Given the description of an element on the screen output the (x, y) to click on. 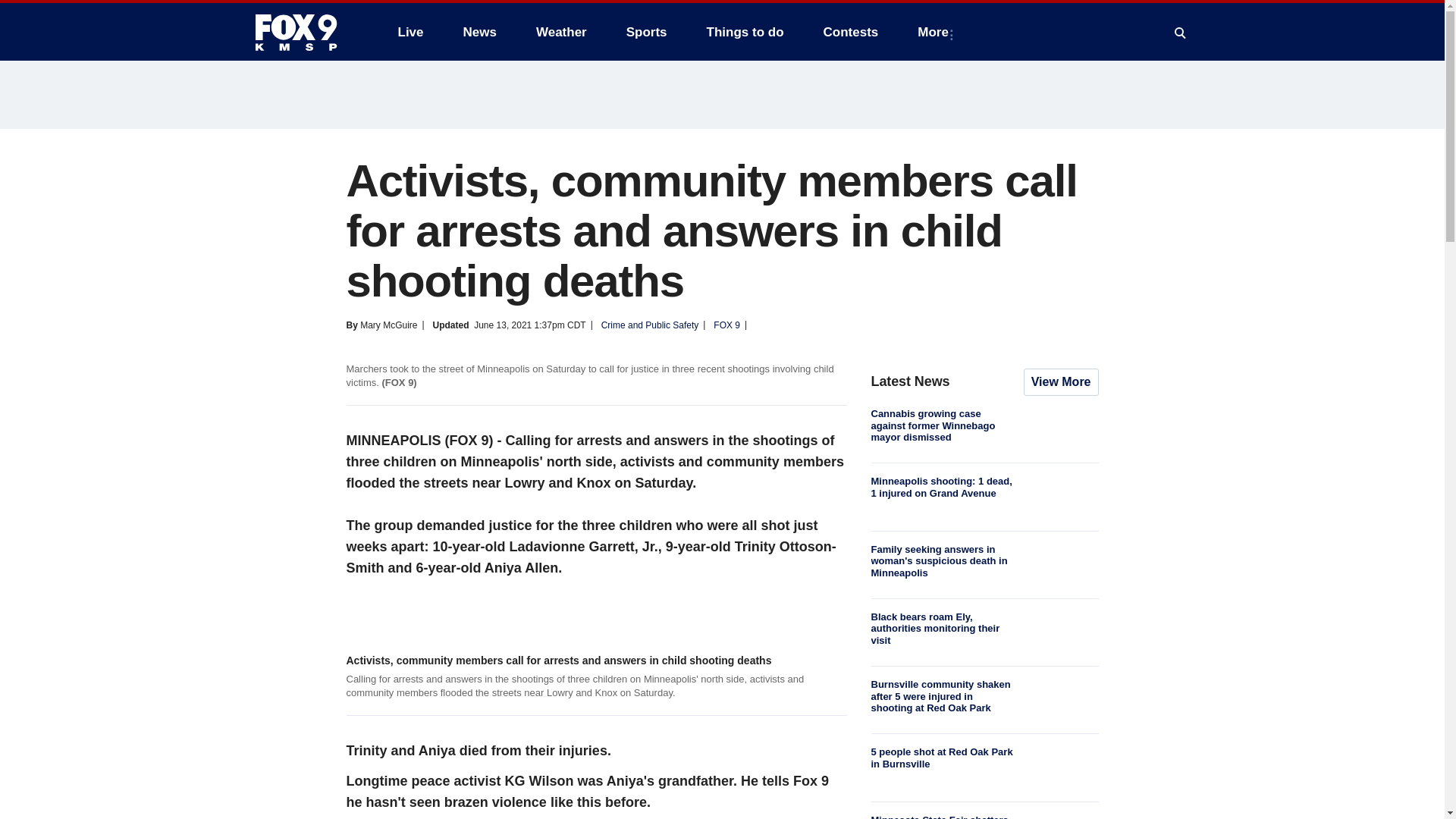
Live (410, 32)
Things to do (745, 32)
More (935, 32)
News (479, 32)
Weather (561, 32)
Contests (850, 32)
Sports (646, 32)
